Given the description of an element on the screen output the (x, y) to click on. 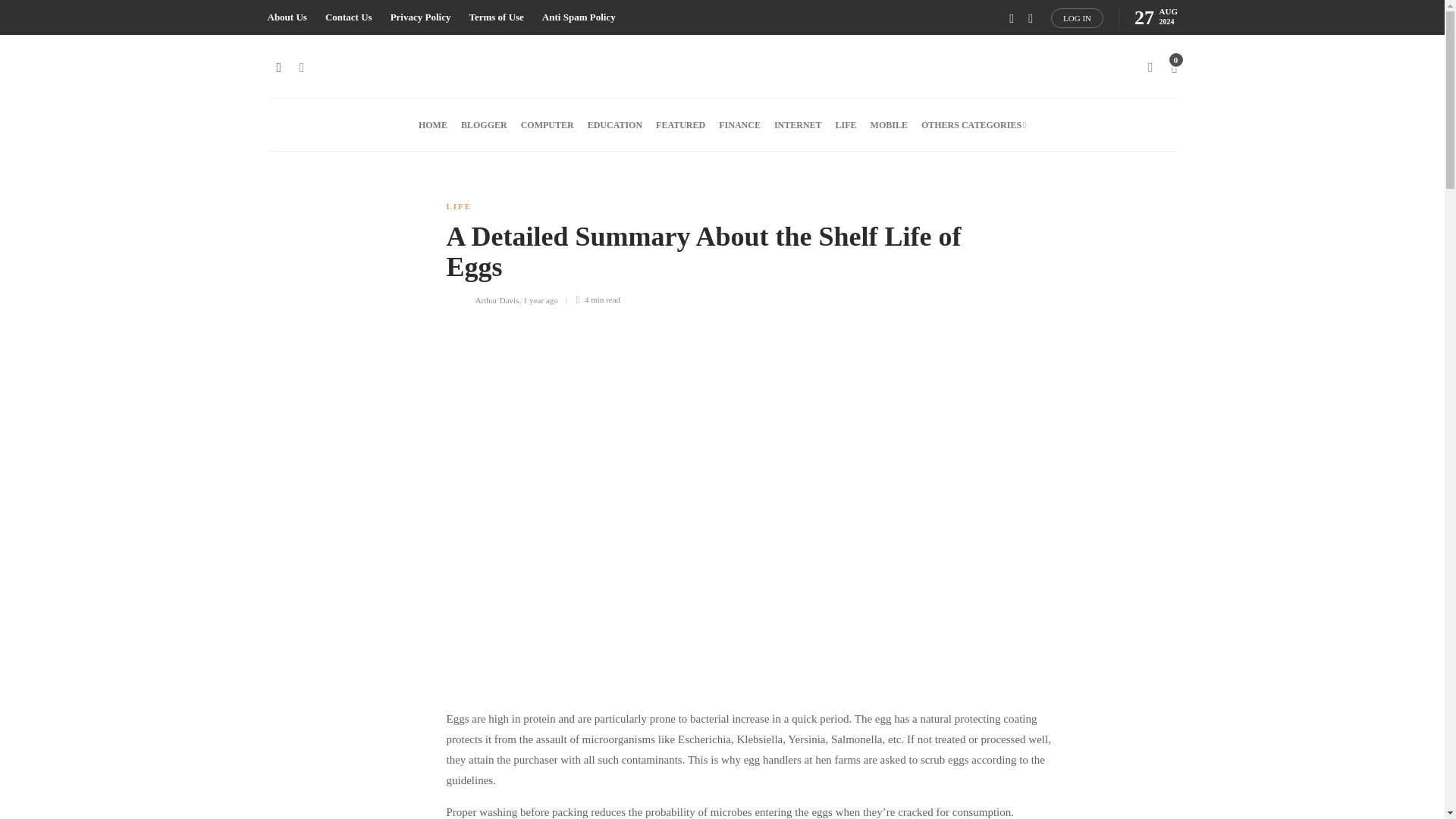
Terms of Use (495, 17)
Privacy Policy (420, 17)
OTHERS CATEGORIES (973, 124)
A Detailed Summary About the Shelf Life of Eggs  (740, 255)
INTERNET (798, 124)
About Us (285, 17)
COMPUTER (547, 124)
Contact Us (348, 17)
LIFE (458, 205)
FEATURED (680, 124)
